Given the description of an element on the screen output the (x, y) to click on. 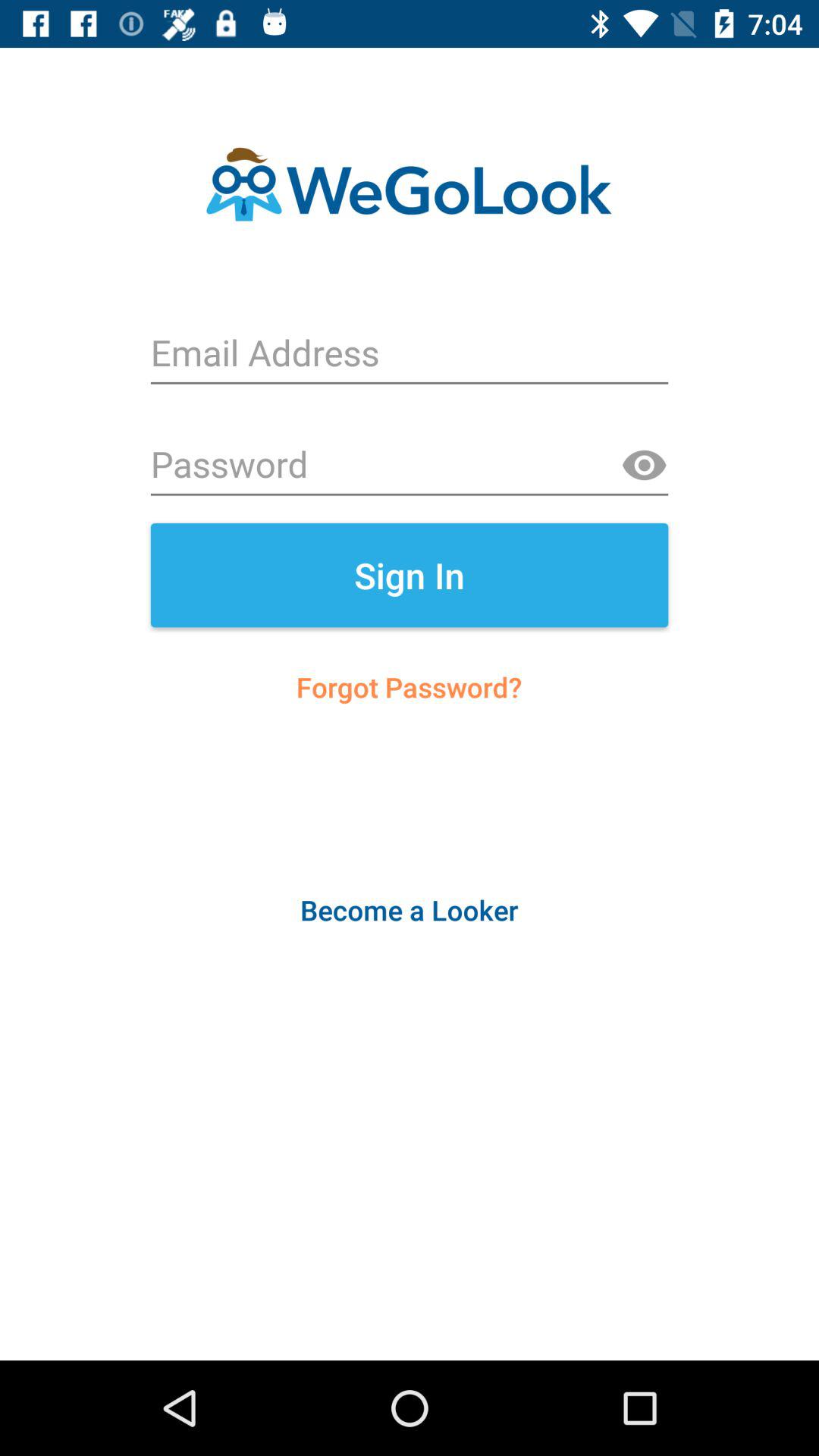
scroll to forgot password? icon (409, 686)
